Given the description of an element on the screen output the (x, y) to click on. 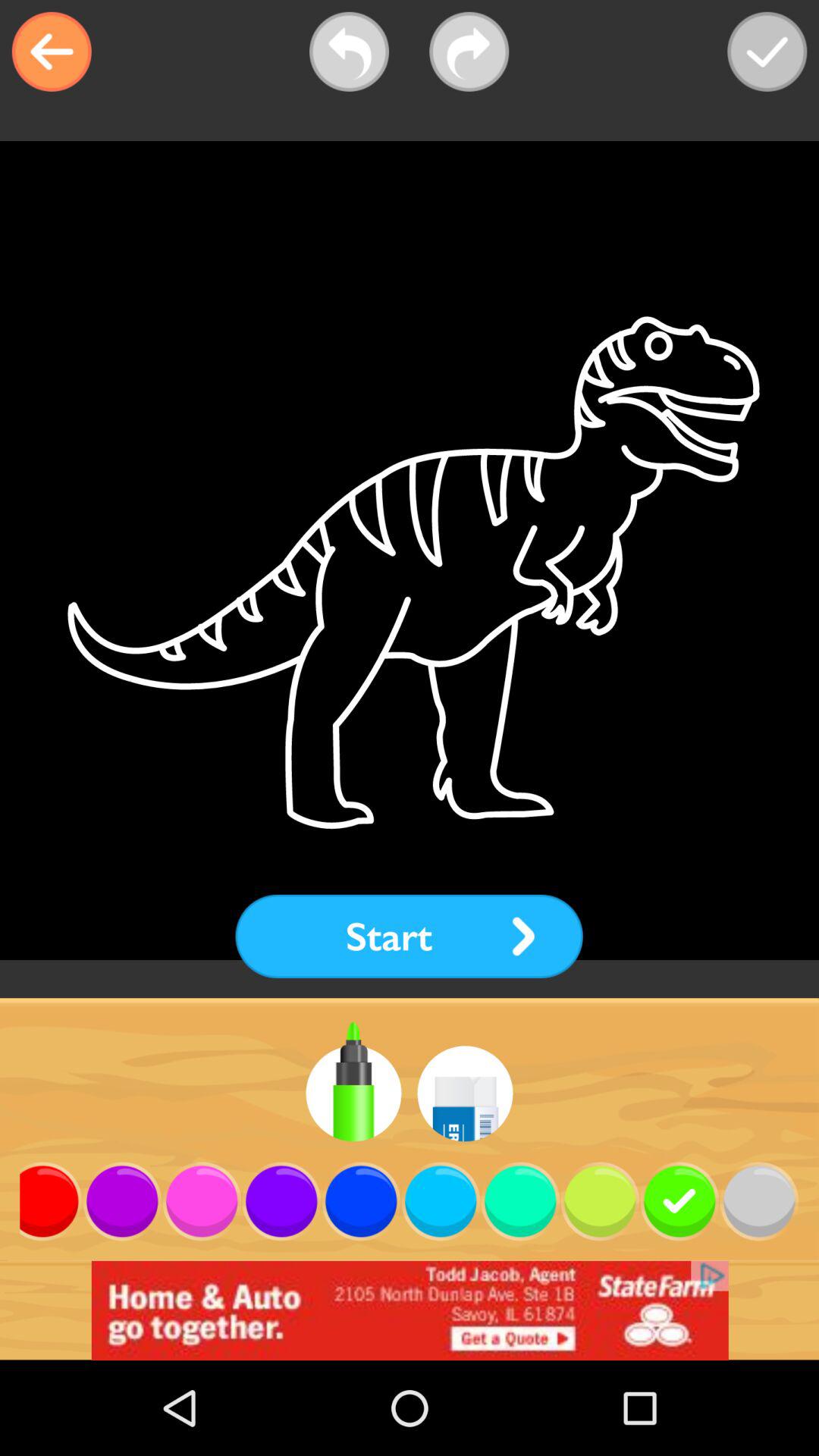
go to back (51, 51)
